Given the description of an element on the screen output the (x, y) to click on. 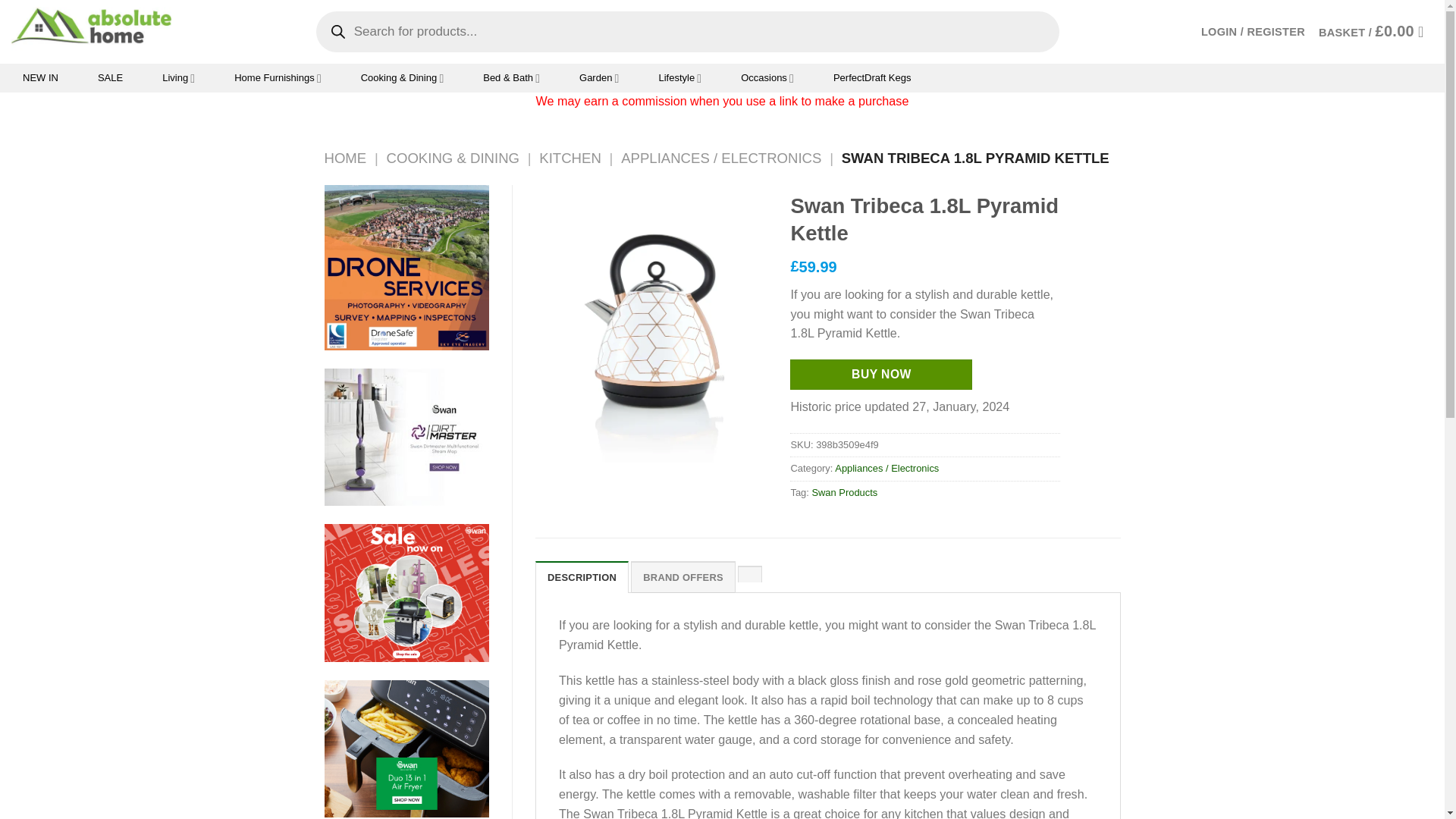
Living (178, 77)
Basket (1375, 31)
Absolute Home (91, 31)
SALE (109, 77)
Login (1252, 31)
NEW IN (40, 77)
